Given the description of an element on the screen output the (x, y) to click on. 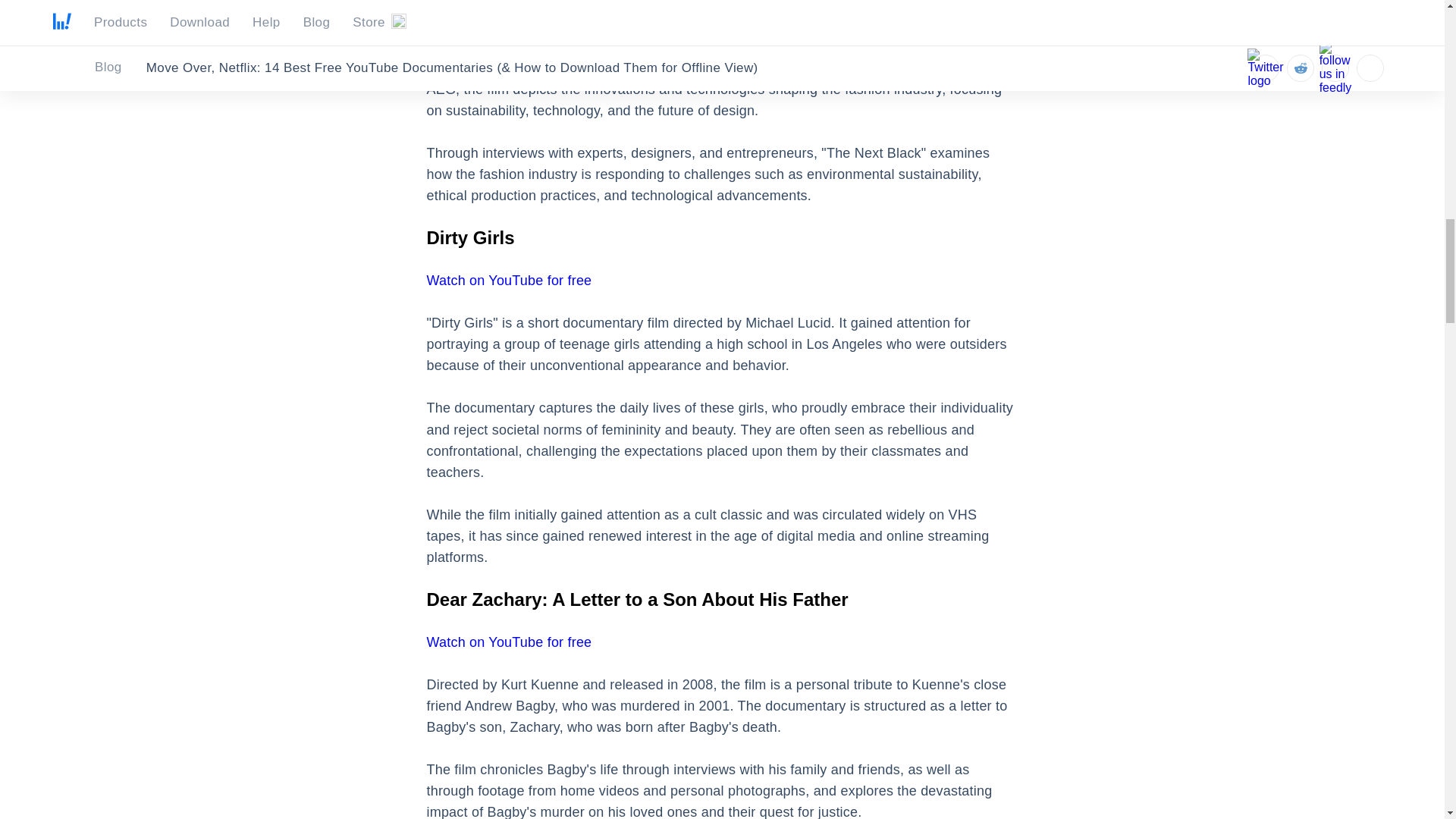
Watch on YouTube for free (508, 25)
Watch on YouTube for free (508, 280)
Watch on YouTube for free (508, 642)
